Given the description of an element on the screen output the (x, y) to click on. 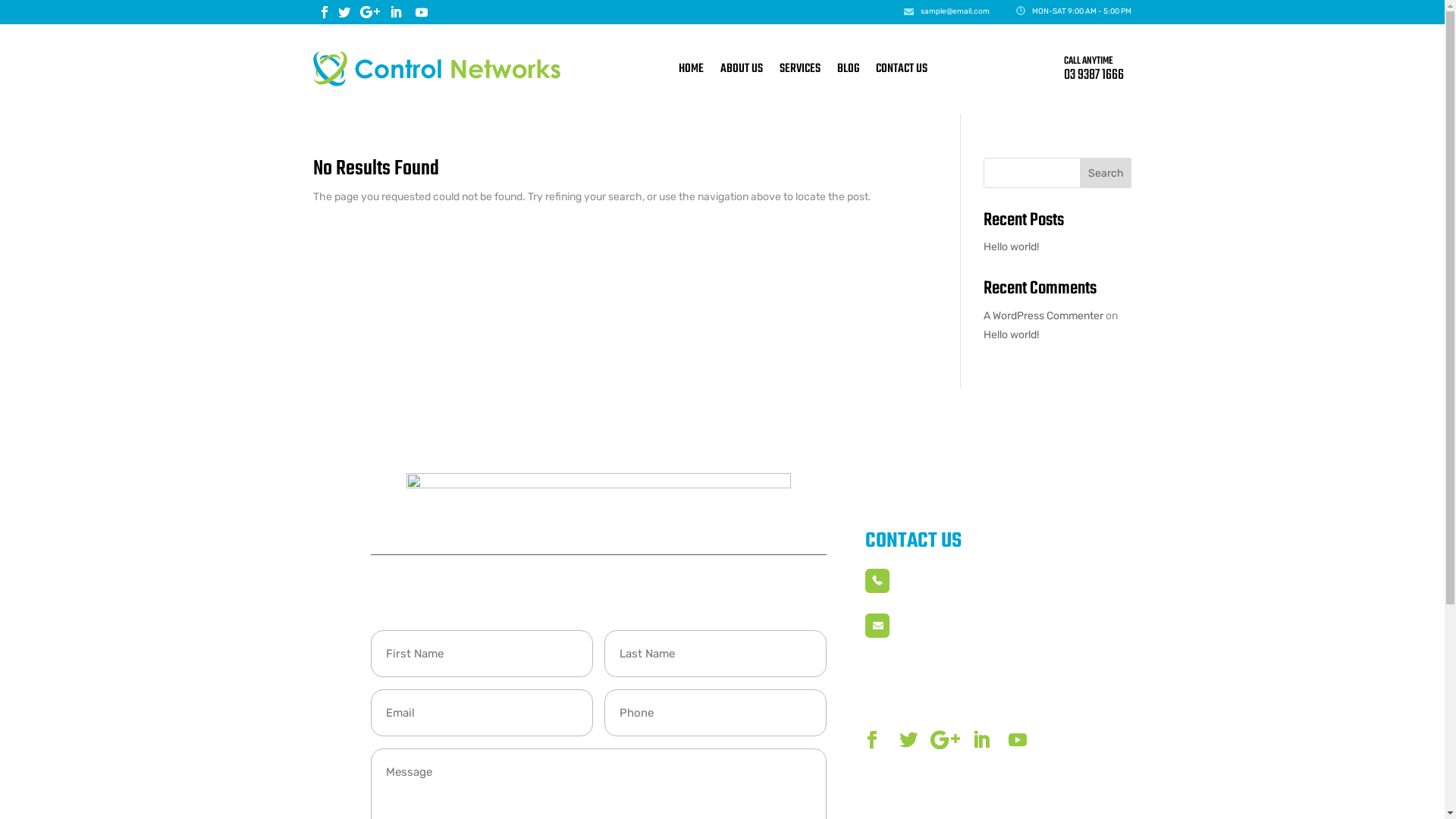
Follow on Facebook Element type: hover (871, 739)
Follow on Facebook Element type: hover (324, 12)
CONTACT US Element type: text (900, 68)
sample@email.com Element type: text (954, 10)
HOME Element type: text (689, 68)
SERVICES Element type: text (799, 68)
Search Element type: text (1105, 172)
ABOUT US Element type: text (741, 68)
Follow on LinkedIn Element type: hover (395, 12)
Follow on Youtube Element type: hover (1017, 739)
Follow on Google+ Element type: hover (944, 739)
Follow on LinkedIn Element type: hover (981, 739)
Follow on Twitter Element type: hover (344, 12)
Hello world! Element type: text (1010, 246)
A WordPress Commenter Element type: text (1043, 315)
Hello world! Element type: text (1010, 334)
222 333 8880 Element type: text (934, 589)
sample@email.com Element type: text (947, 633)
BLOG Element type: text (848, 68)
Follow on Twitter Element type: hover (908, 739)
03 9387 1666 Element type: text (1093, 74)
Follow on Google+ Element type: hover (369, 12)
Follow on Youtube Element type: hover (421, 12)
Control Networks Logo Footer Element type: hover (598, 500)
